Given the description of an element on the screen output the (x, y) to click on. 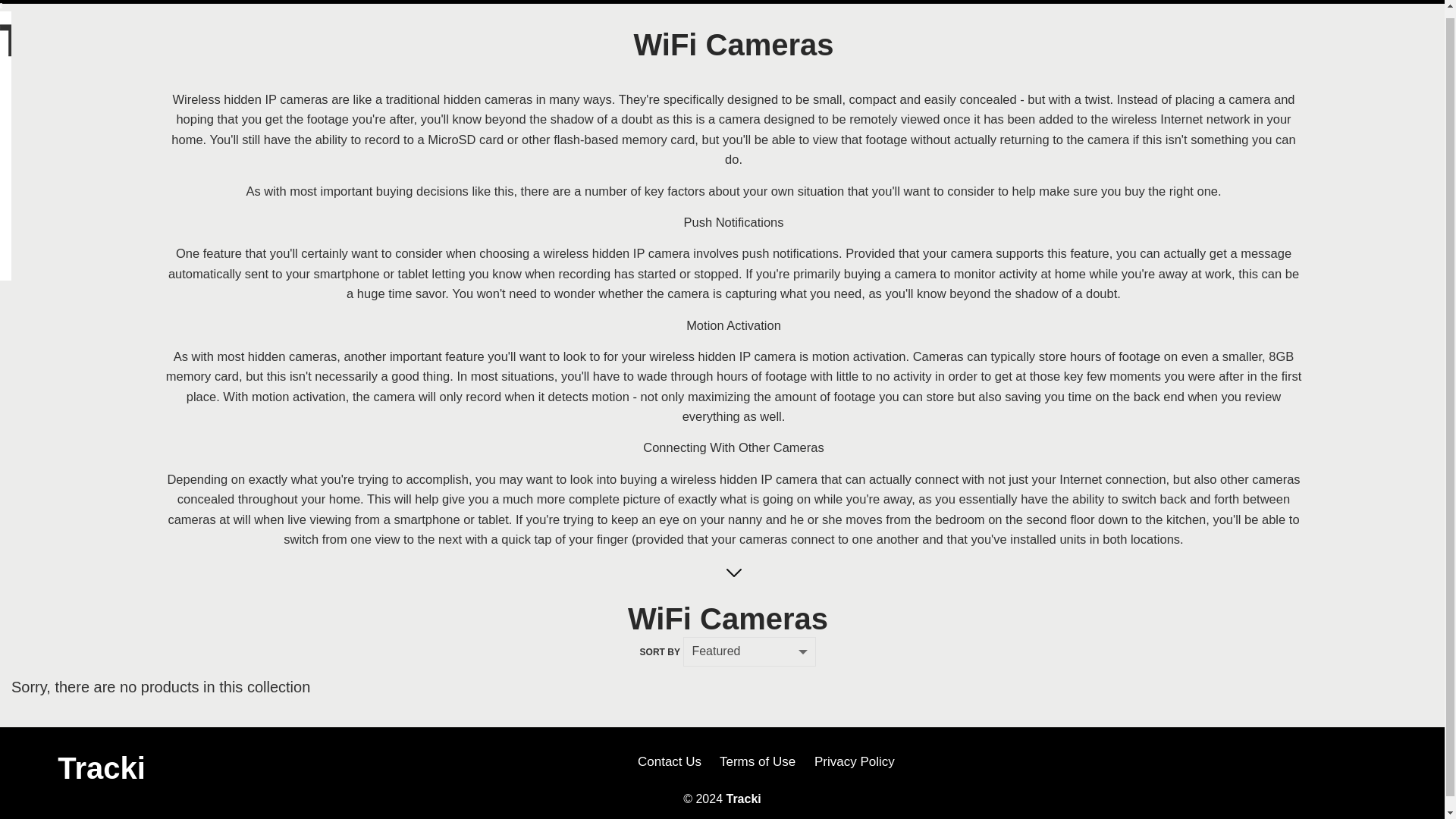
Home (161, 166)
Connection Plans (224, 164)
How-to Videos (681, 166)
Blog (738, 166)
Activation (361, 166)
Return Policy (461, 141)
GPS Accessories (223, 141)
GPS Trackers (213, 119)
1-800-742-1200 (1350, 23)
Help Center (456, 51)
